Given the description of an element on the screen output the (x, y) to click on. 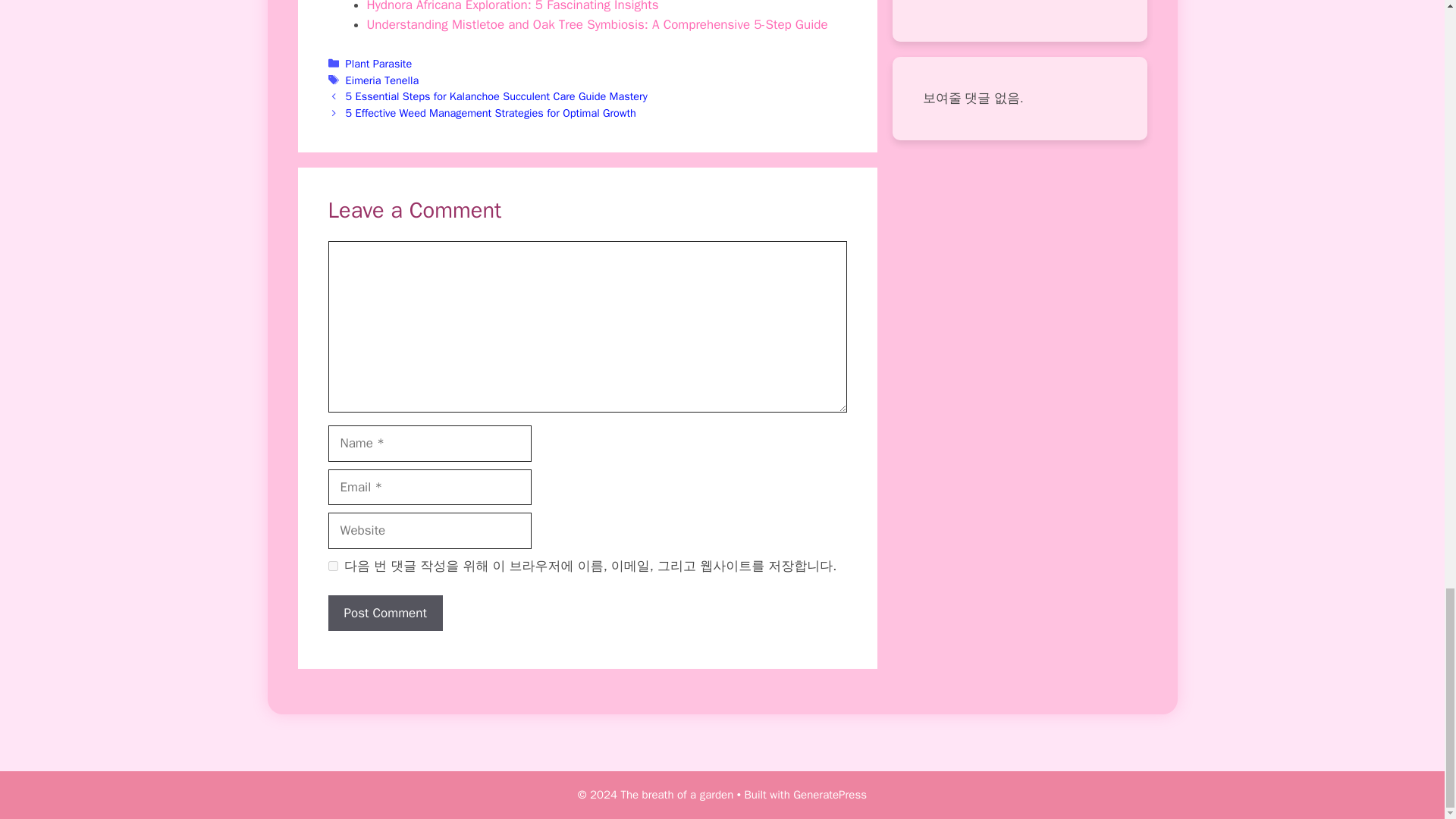
Post Comment (384, 613)
Eimeria Tenella (382, 79)
5 Effective Weed Management Strategies for Optimal Growth (491, 112)
yes (332, 565)
Post Comment (384, 613)
5 Essential Steps for Kalanchoe Succulent Care Guide Mastery (496, 96)
Plant Parasite (379, 63)
Hydnora Africana Exploration: 5 Fascinating Insights (512, 6)
